Given the description of an element on the screen output the (x, y) to click on. 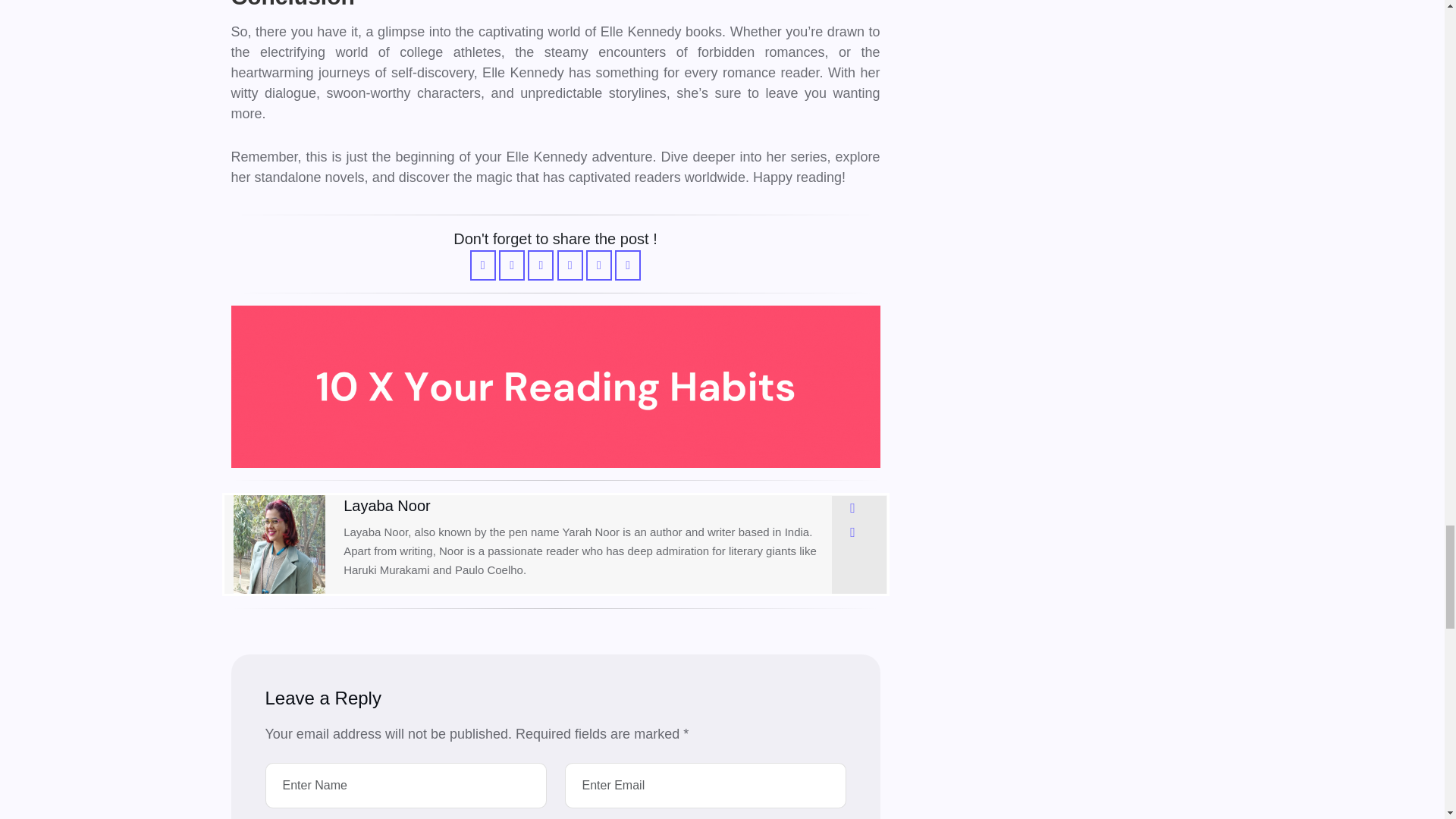
Instagram (852, 508)
LinkedIn (852, 532)
